Given the description of an element on the screen output the (x, y) to click on. 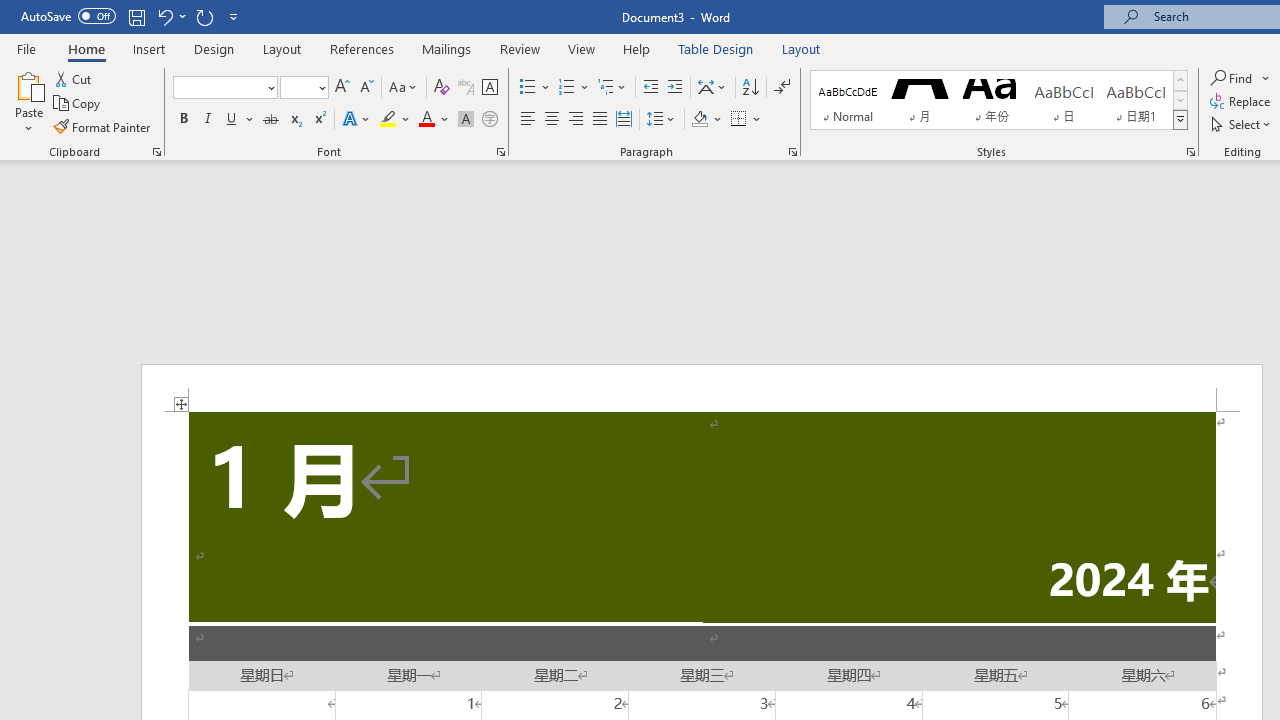
Styles... (1190, 151)
Format Painter (103, 126)
Character Border (489, 87)
Increase Indent (675, 87)
Text Highlight Color Yellow (388, 119)
Shading (706, 119)
Change Case (404, 87)
